Given the description of an element on the screen output the (x, y) to click on. 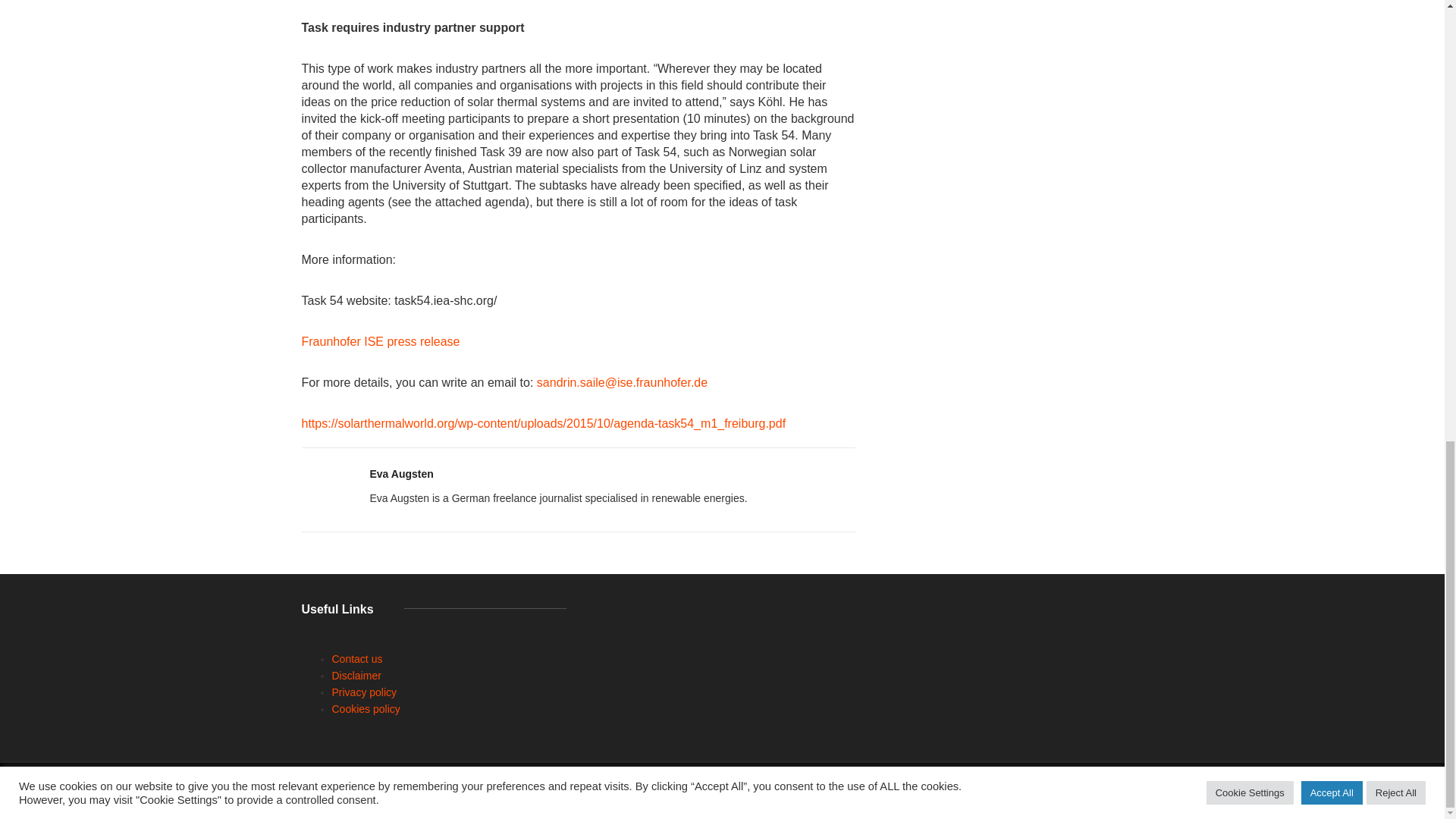
Fraunhofer ISE press release  (382, 341)
Contact us (356, 658)
Disclaimer (356, 675)
Privacy policy (364, 692)
